Given the description of an element on the screen output the (x, y) to click on. 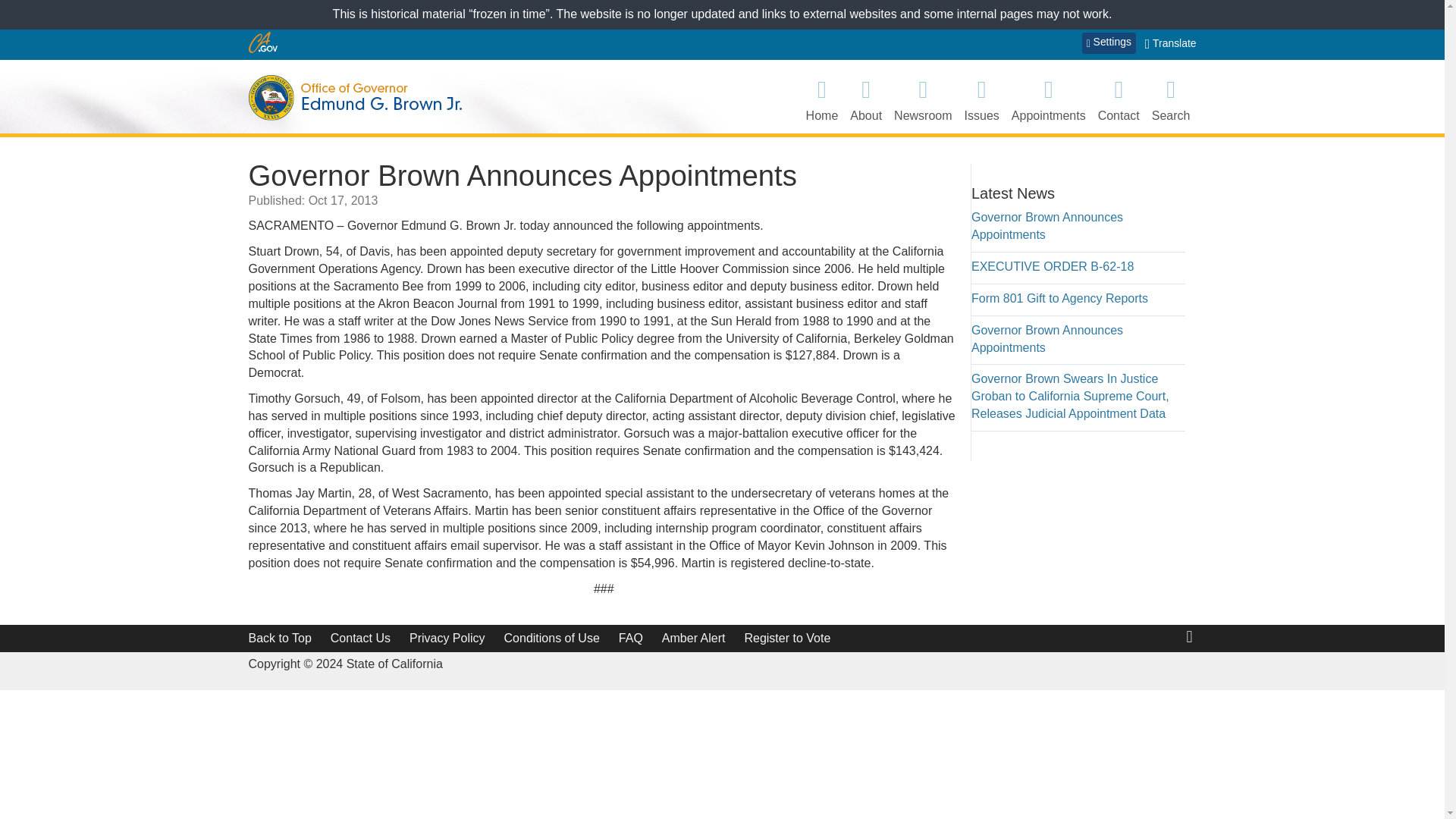
Form 801 Gift to Agency Reports (1059, 297)
CA.gov (263, 43)
EXECUTIVE ORDER B-62-18 (1052, 266)
Appointments (1048, 98)
Settings (1108, 43)
Translate (1170, 44)
Governor Brown Announces Appointments (1046, 225)
Governor Brown Announces Appointments (1046, 338)
